Given the description of an element on the screen output the (x, y) to click on. 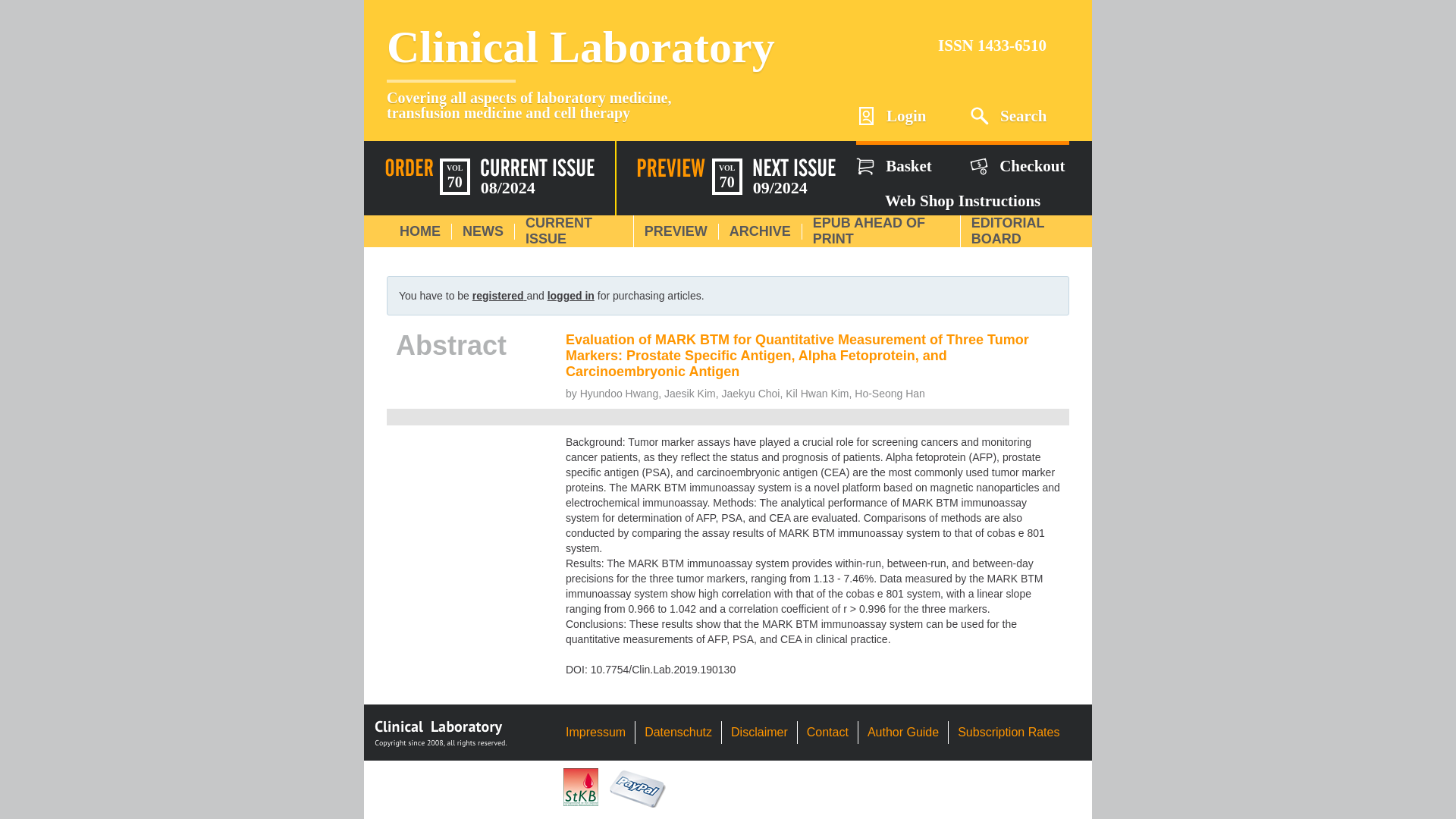
Impressum (596, 731)
Subscription Rates (1008, 731)
HOME (419, 230)
Web Shop Instructions (962, 196)
CURRENT ISSUE (558, 230)
Datenschutz (678, 731)
logged in (570, 295)
Author Guide (903, 731)
Login (906, 115)
